Given the description of an element on the screen output the (x, y) to click on. 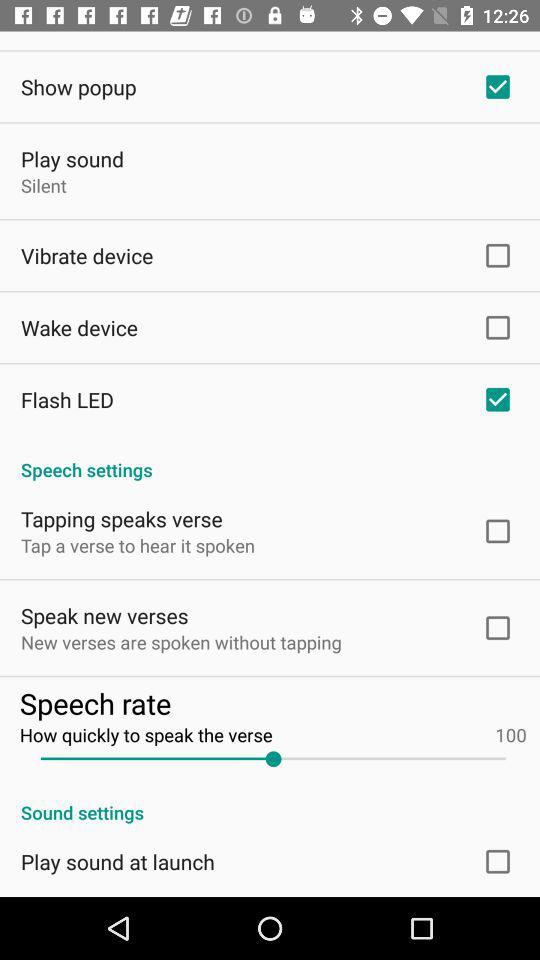
scroll until vibrate device item (87, 255)
